Given the description of an element on the screen output the (x, y) to click on. 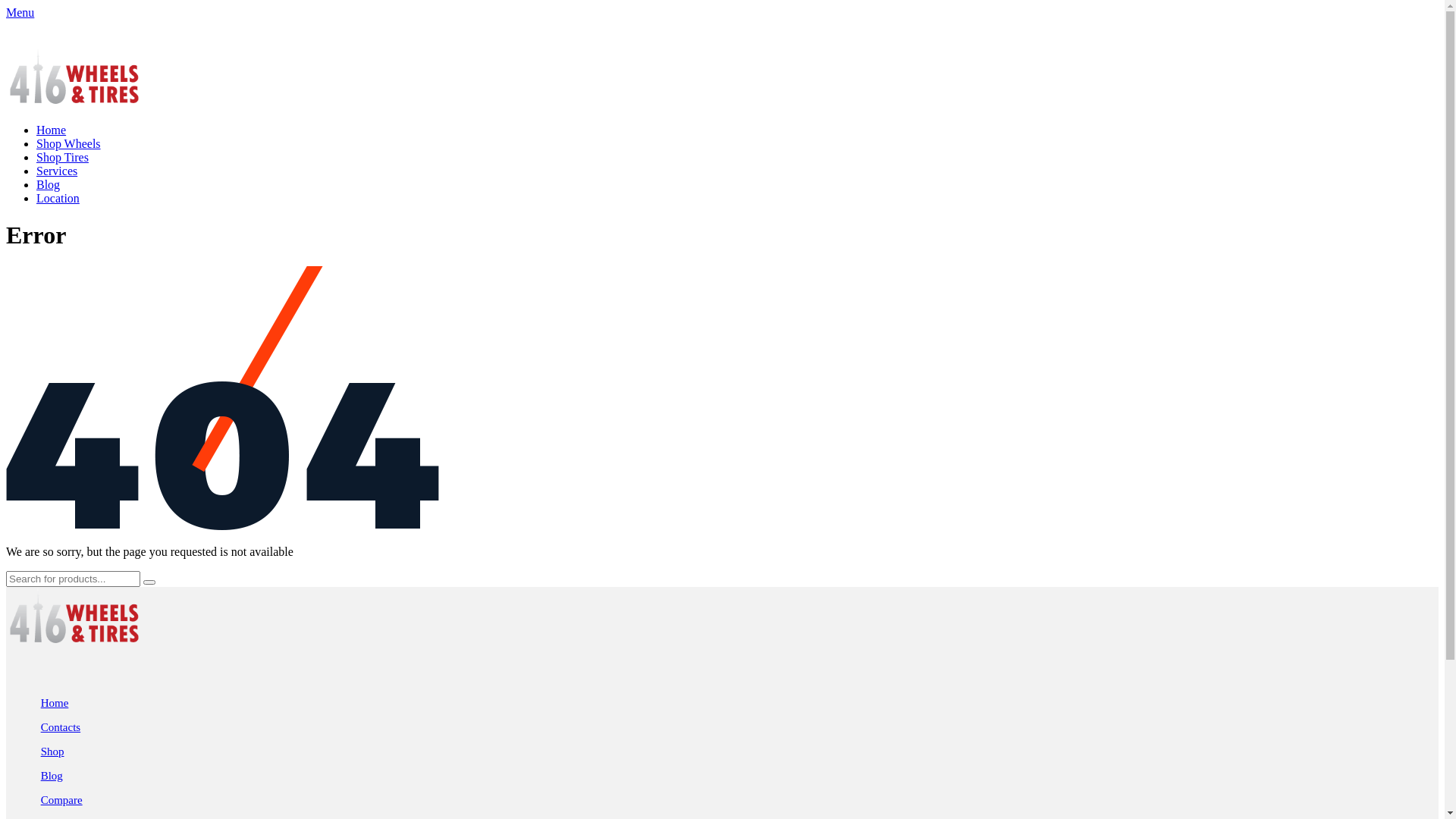
Shop Wheels Element type: text (68, 143)
Shop Element type: text (52, 751)
Compare Element type: text (61, 799)
Contacts Element type: text (60, 727)
Shop Tires Element type: text (62, 156)
Blog Element type: text (47, 184)
Location Element type: text (57, 197)
Menu Element type: text (20, 12)
Blog Element type: text (51, 775)
Home Element type: text (54, 702)
Home Element type: text (50, 129)
Services Element type: text (56, 170)
